Given the description of an element on the screen output the (x, y) to click on. 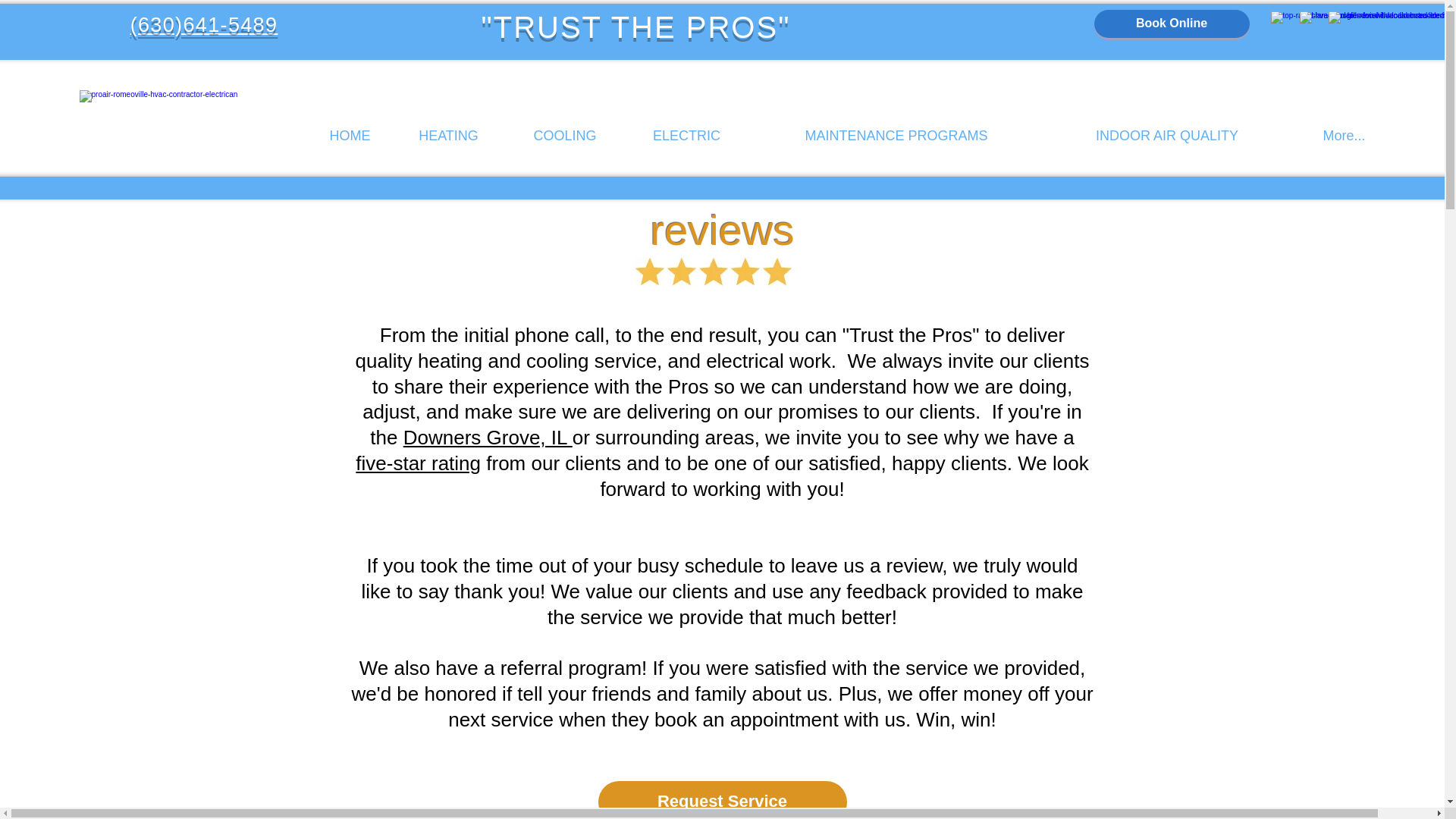
five-star rating (417, 463)
HEATING (448, 135)
Downers Grove, IL  (487, 436)
MAINTENANCE PROGRAMS (896, 135)
Book Online (1171, 23)
COOLING (564, 135)
Request Service (720, 800)
INDOOR AIR QUALITY (1166, 135)
ELECTRIC (686, 135)
